Given the description of an element on the screen output the (x, y) to click on. 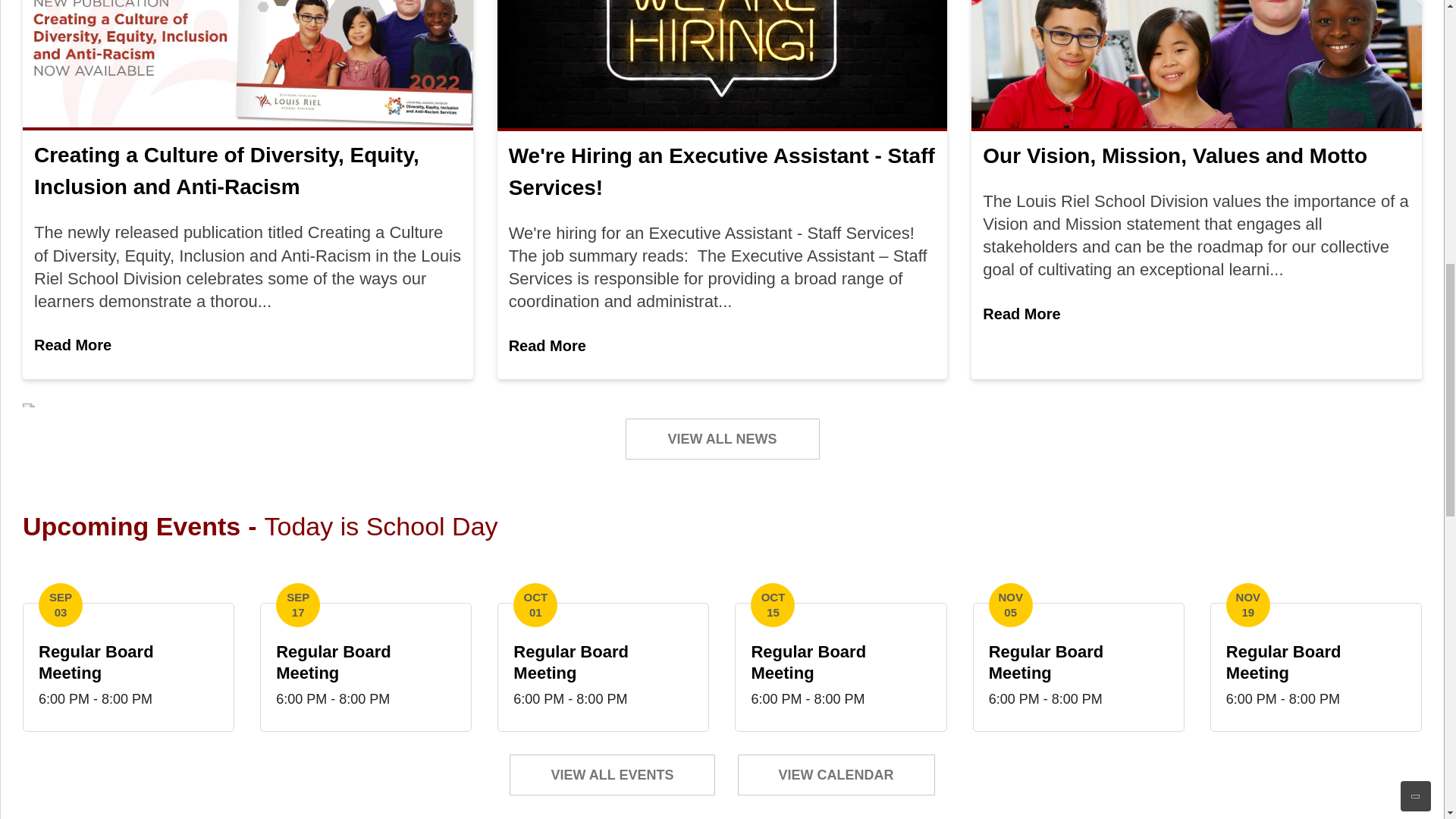
Our Vision, Mission, Values and Motto (1174, 155)
Read More (1020, 314)
VIEW ALL EVENTS (365, 667)
VIEW CALENDAR (611, 774)
VIEW ALL NEWS (128, 667)
Read More (1315, 667)
Read More (603, 667)
We're Hiring an Executive Assistant - Staff Services! (836, 774)
